Given the description of an element on the screen output the (x, y) to click on. 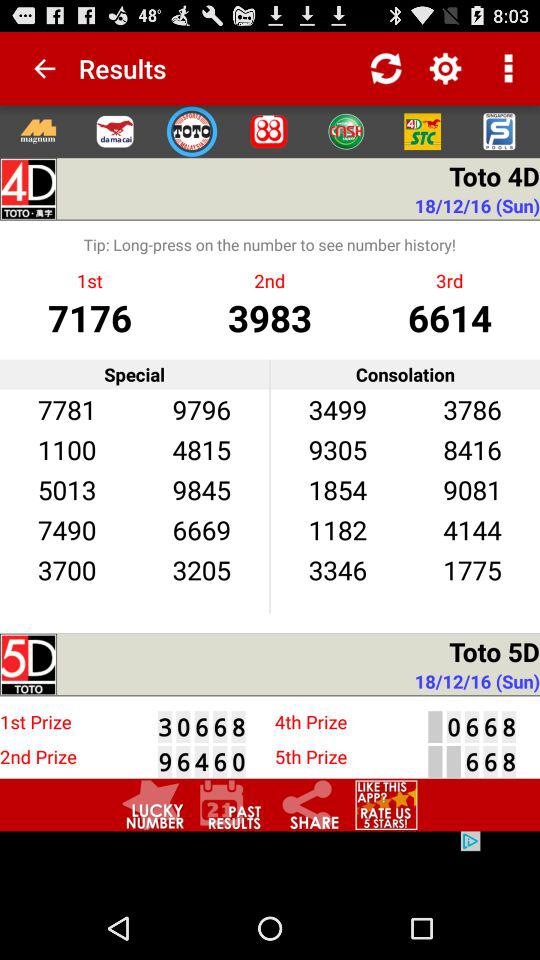
turn on the icon to the left of the 3983 icon (90, 316)
